Given the description of an element on the screen output the (x, y) to click on. 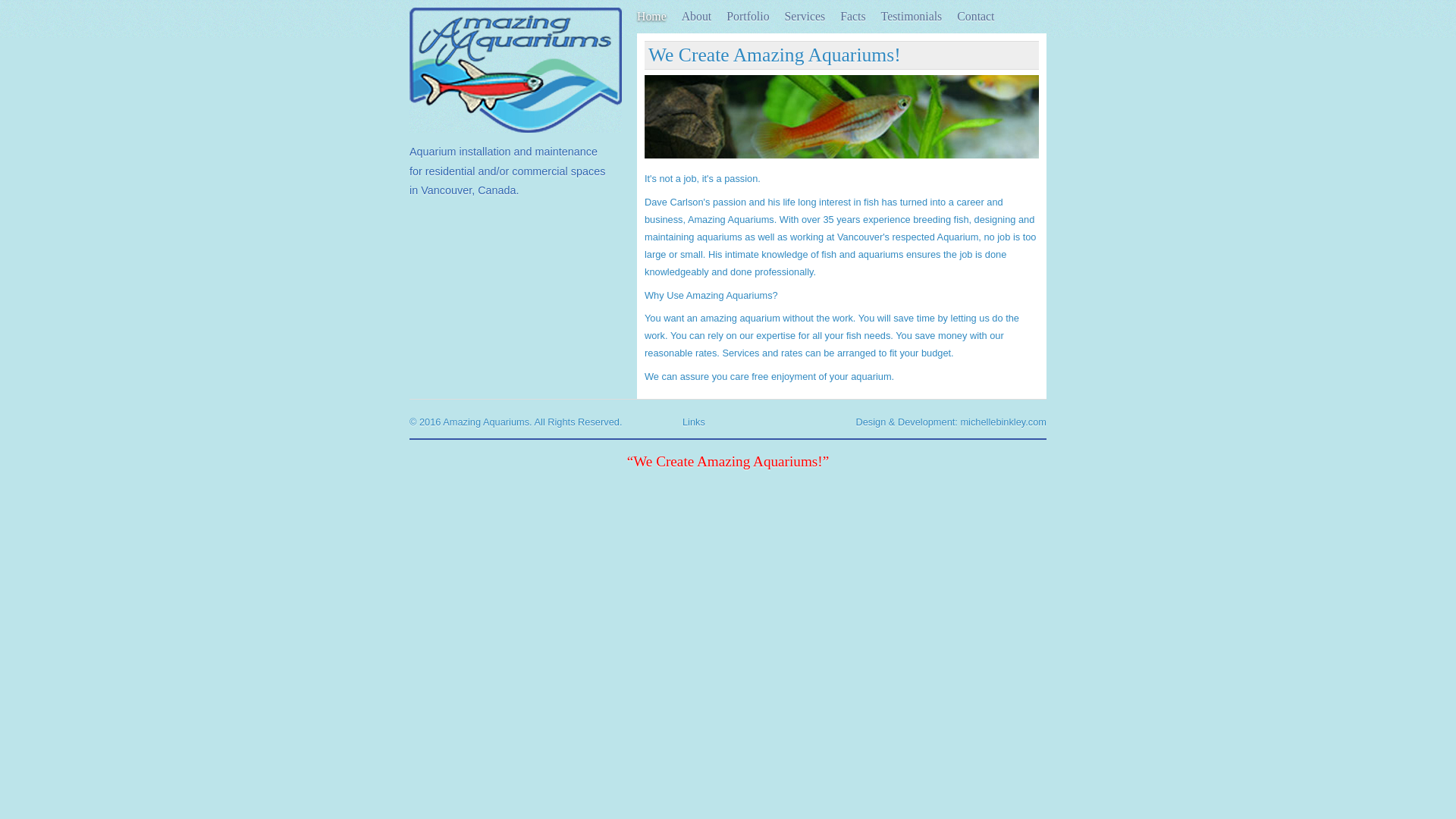
Testimonials Element type: text (911, 15)
Home Element type: text (651, 15)
michellebinkley.com Element type: text (1003, 420)
Services Element type: text (804, 15)
Facts Element type: text (852, 15)
Contact Element type: text (975, 15)
Portfolio Element type: text (747, 15)
About Element type: text (696, 15)
Links Element type: text (693, 421)
